Given the description of an element on the screen output the (x, y) to click on. 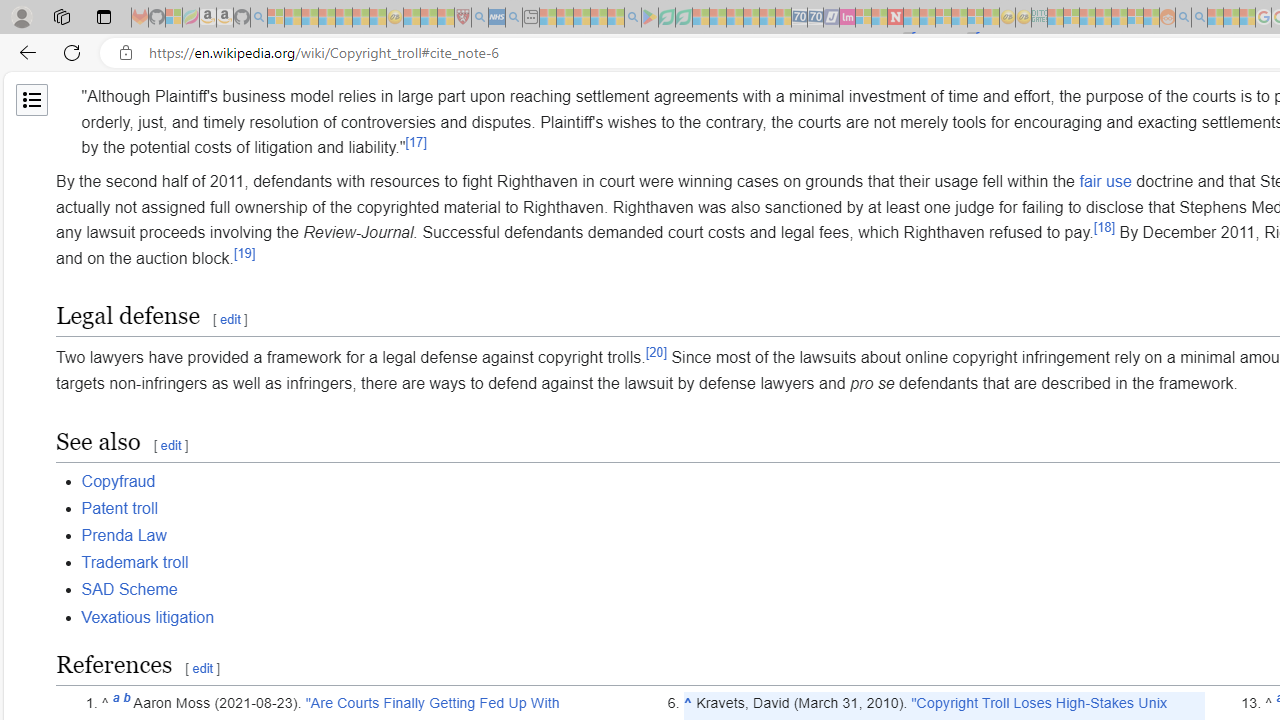
View site information (125, 53)
The Weather Channel - MSN - Sleeping (309, 17)
Patent troll (119, 507)
fair use (1105, 181)
NCL Adult Asthma Inhaler Choice Guideline - Sleeping (497, 17)
google - Search - Sleeping (632, 17)
Workspaces (61, 16)
Local - MSN - Sleeping (445, 17)
Microsoft-Report a Concern to Bing - Sleeping (173, 17)
Refresh (72, 52)
Personal Profile (21, 16)
